Given the description of an element on the screen output the (x, y) to click on. 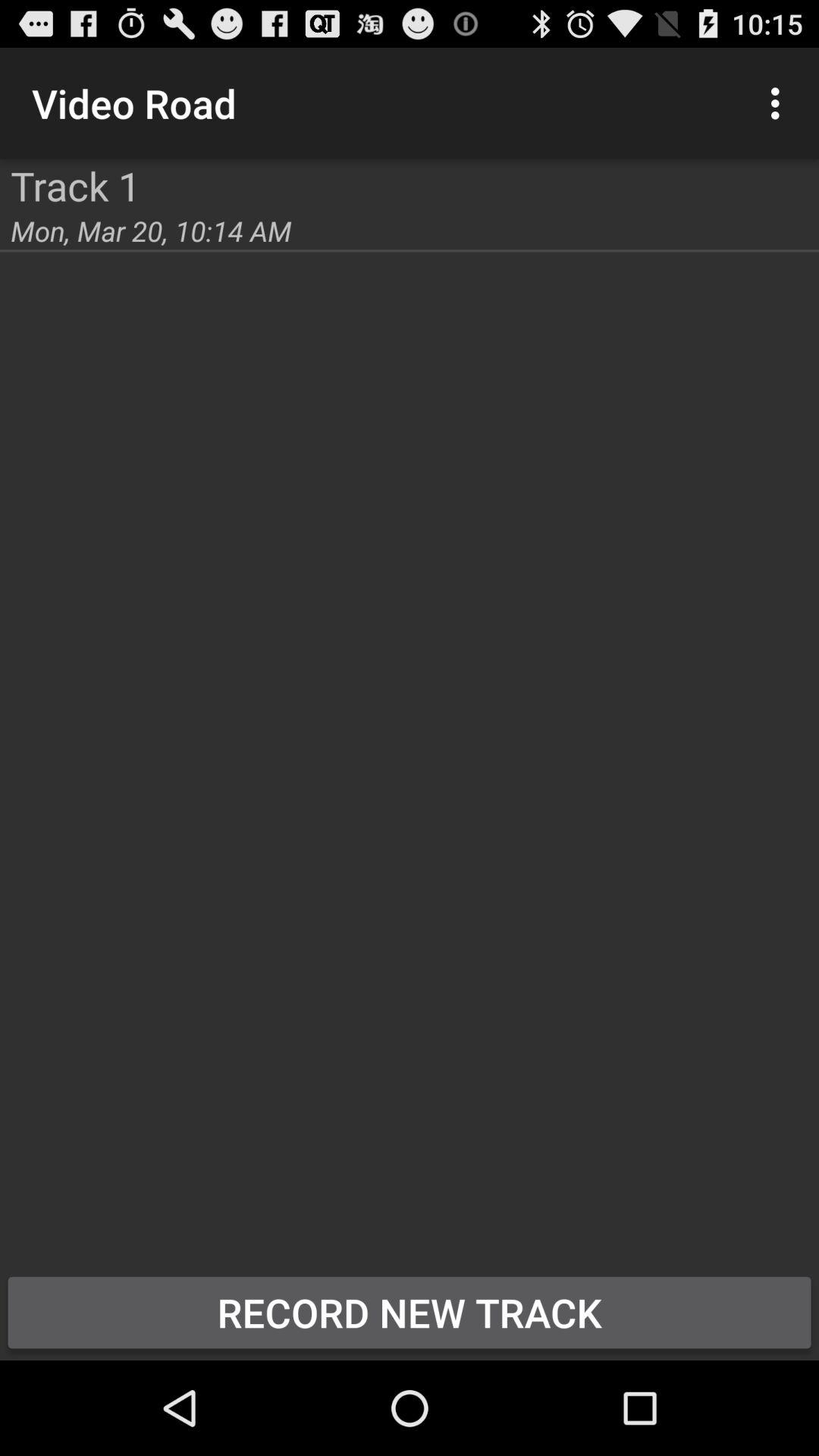
open the record new track icon (409, 1312)
